Given the description of an element on the screen output the (x, y) to click on. 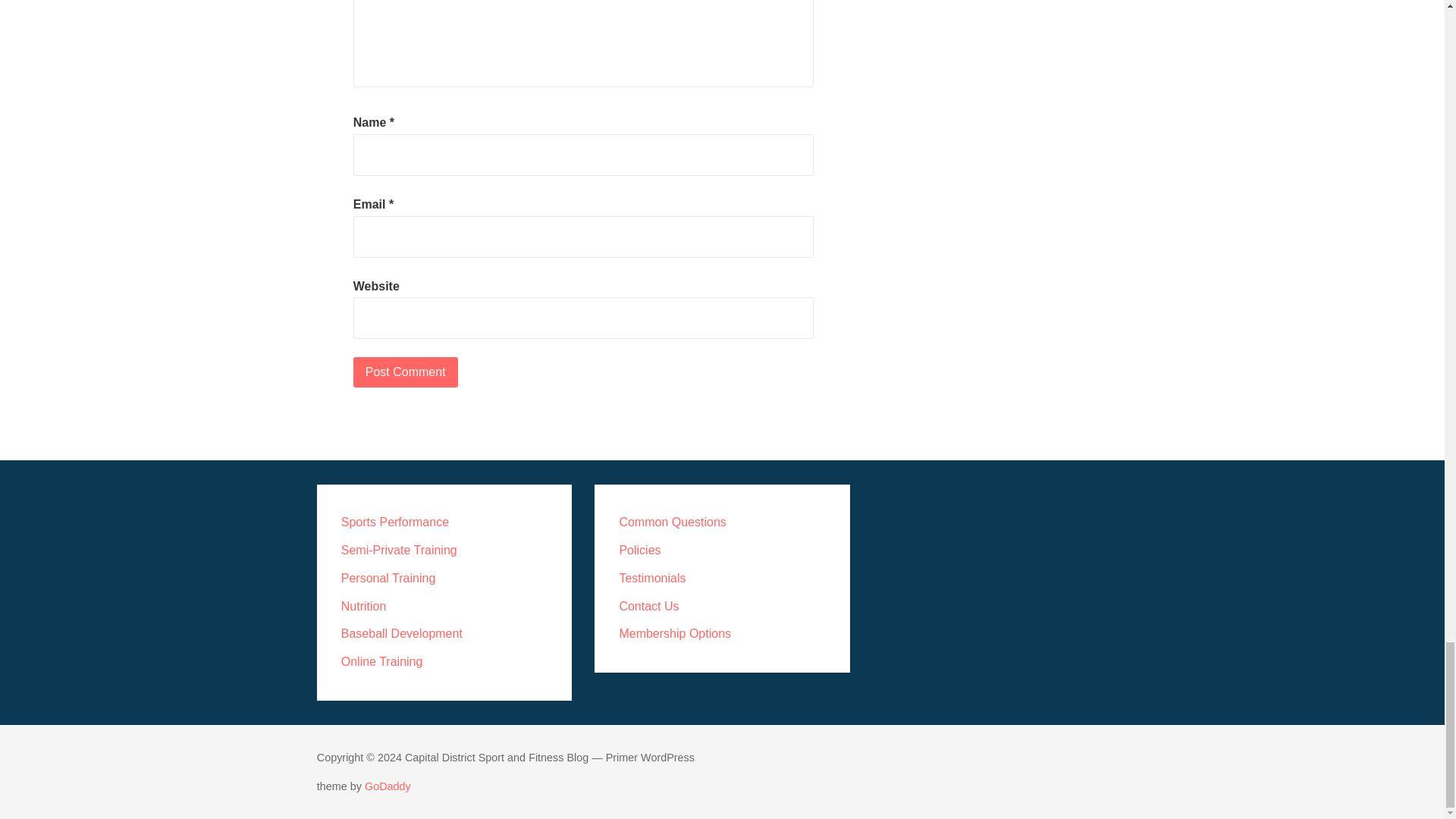
Post Comment (405, 372)
Post Comment (405, 372)
